Given the description of an element on the screen output the (x, y) to click on. 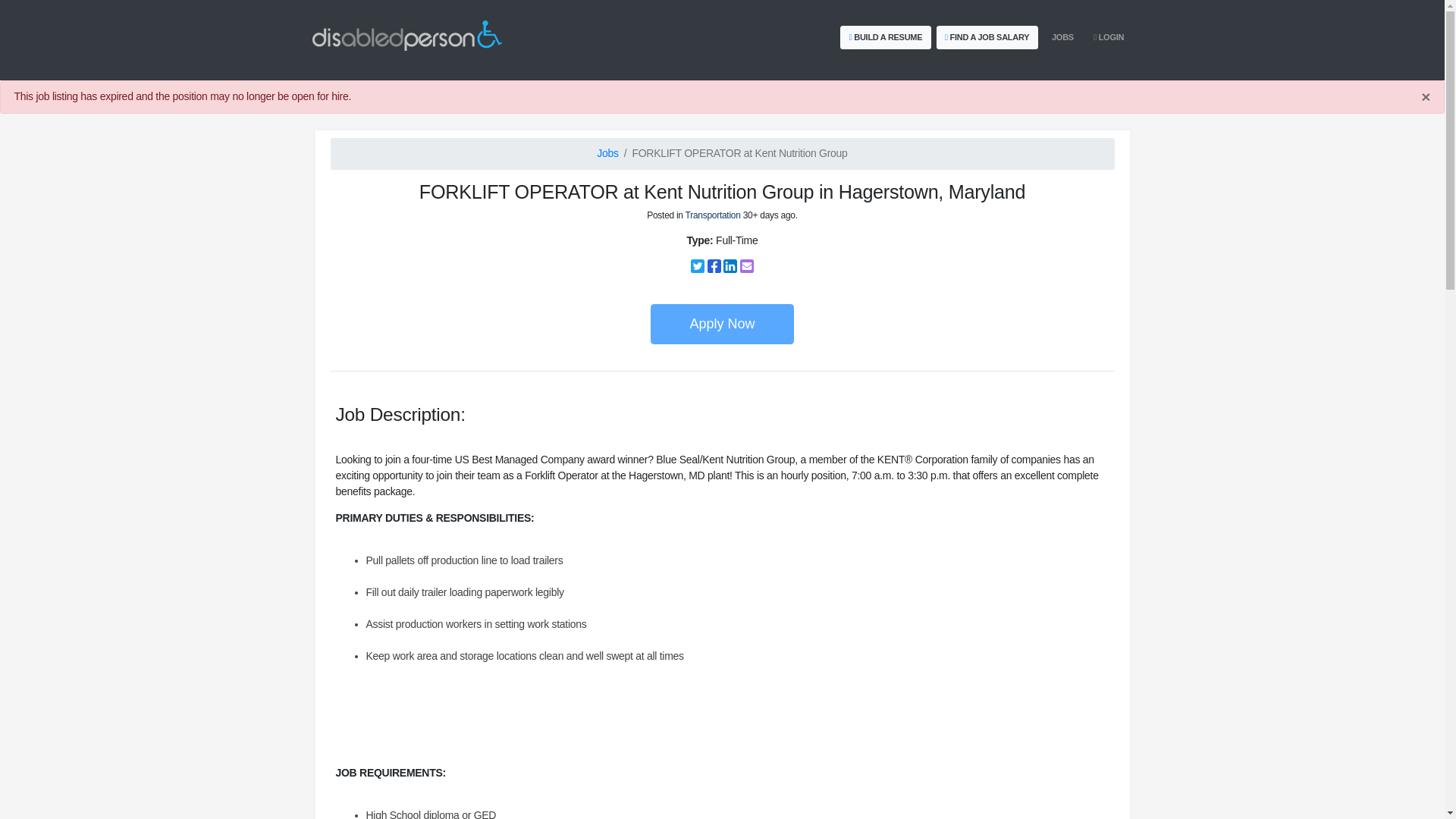
BUILD A RESUME (886, 36)
FIND A JOB SALARY (986, 36)
Share to Linkedin (729, 265)
Share to Email (746, 265)
LOGIN (1108, 36)
Share to Facebook (713, 265)
Transportation (713, 214)
Share to Twitter (697, 265)
Jobs (606, 153)
JOBS (1062, 36)
